Given the description of an element on the screen output the (x, y) to click on. 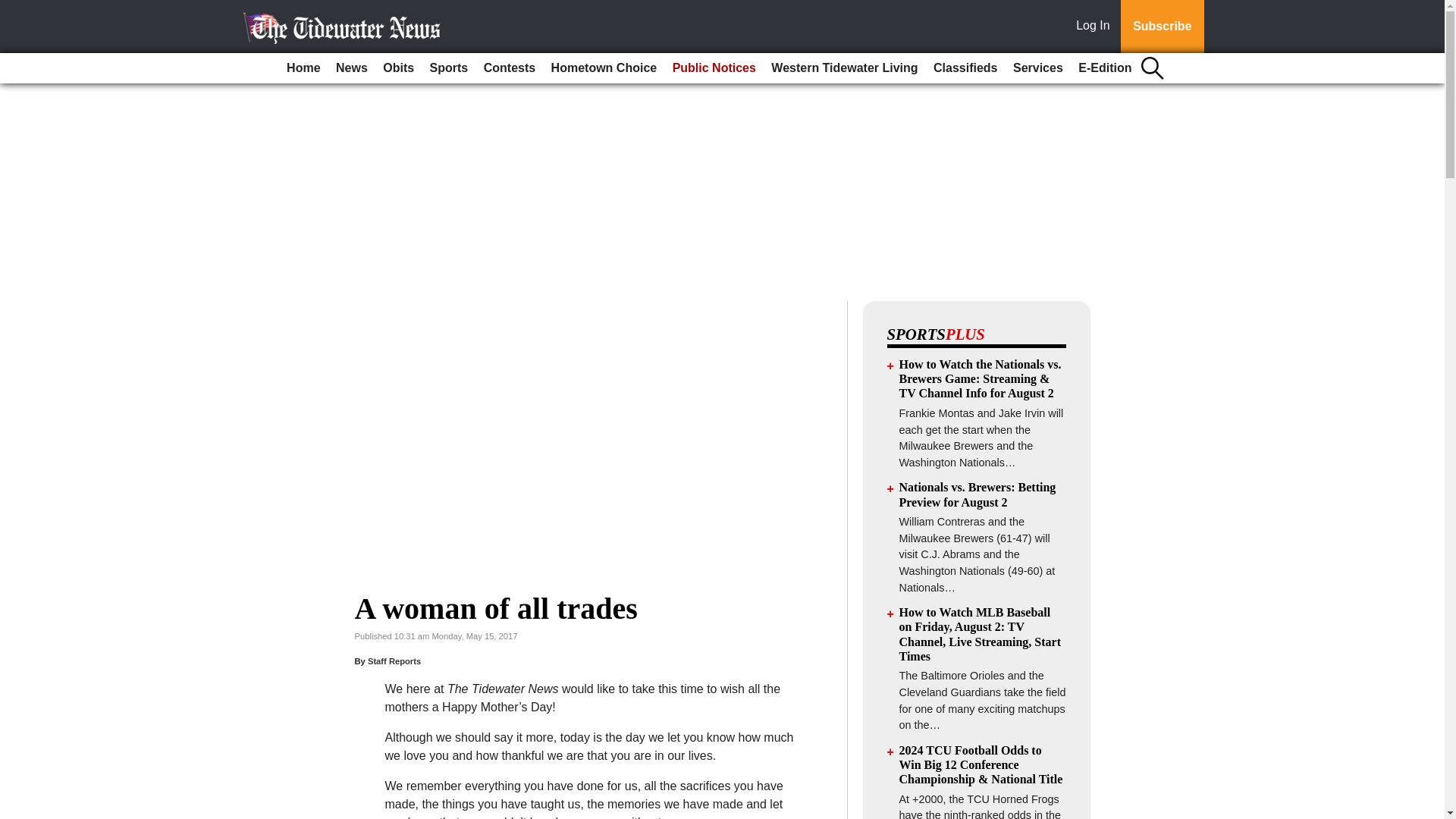
News (352, 68)
Public Notices (713, 68)
Staff Reports (394, 660)
Log In (1095, 26)
Home (303, 68)
Hometown Choice (603, 68)
Sports (448, 68)
Contests (509, 68)
E-Edition (1104, 68)
Classifieds (965, 68)
Services (1037, 68)
Subscribe (1162, 26)
Go (13, 9)
Obits (398, 68)
Western Tidewater Living (844, 68)
